Given the description of an element on the screen output the (x, y) to click on. 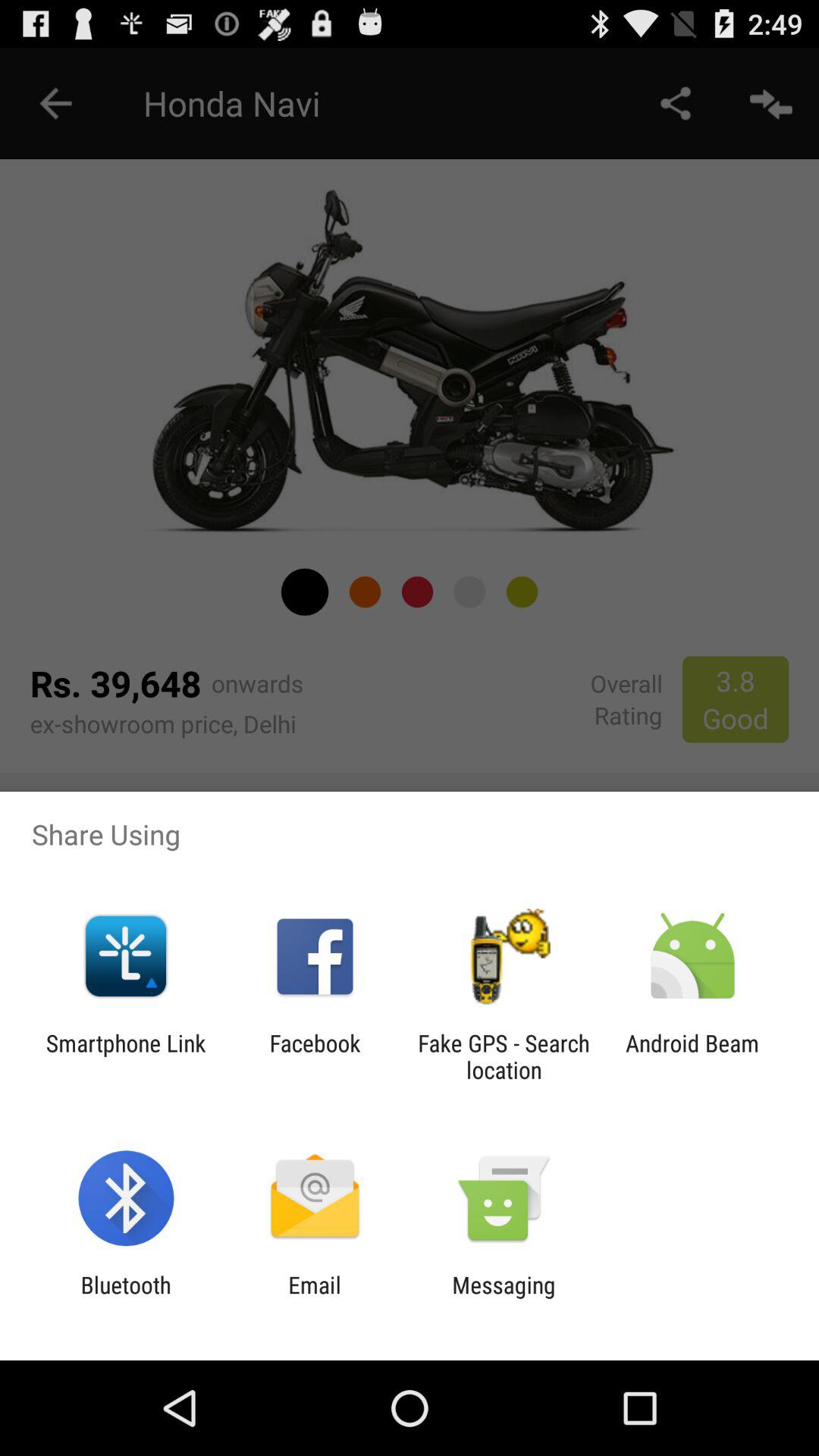
press icon to the right of facebook item (503, 1056)
